Given the description of an element on the screen output the (x, y) to click on. 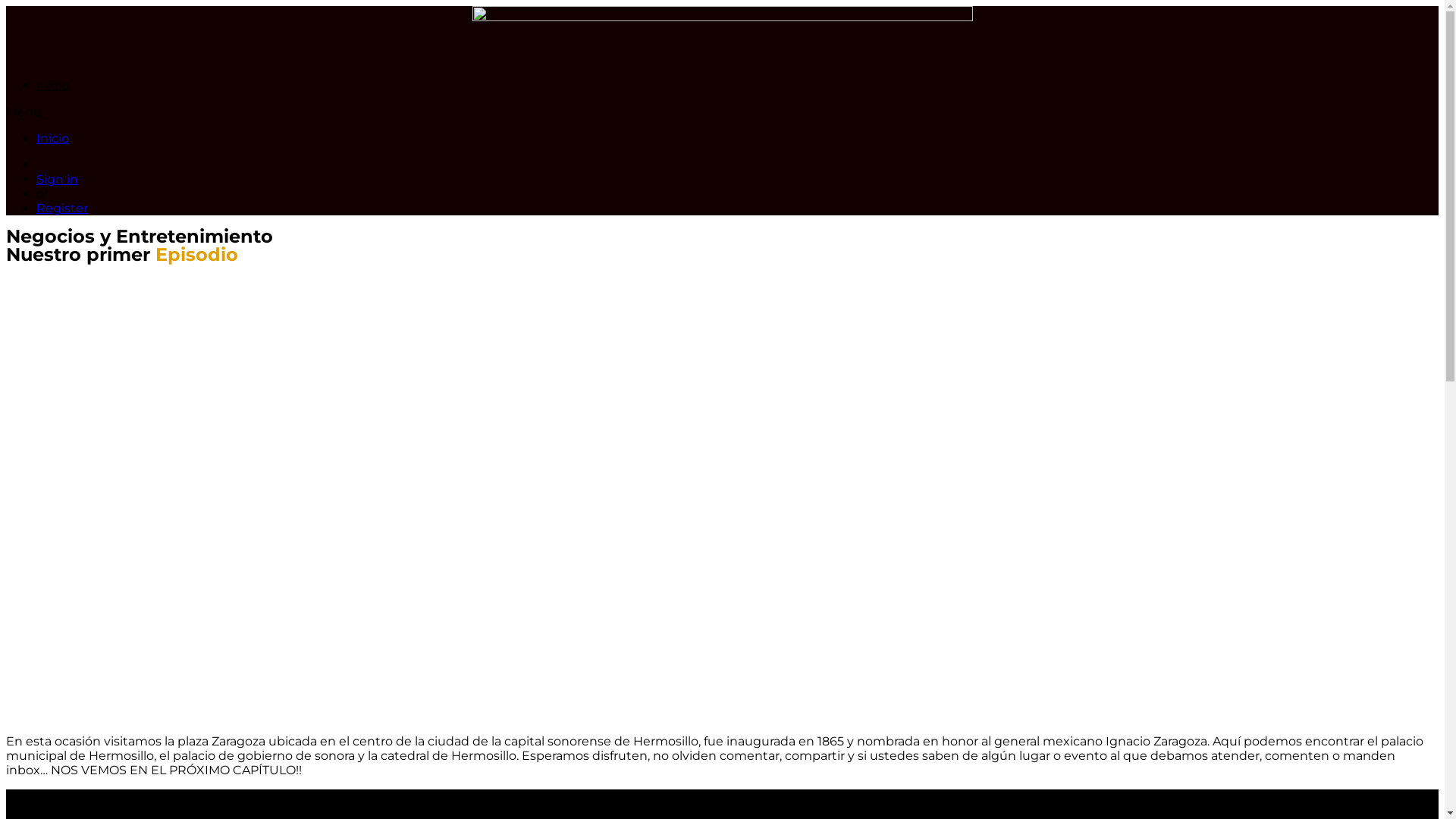
Register Element type: text (61, 207)
Inicio Element type: text (52, 138)
Sign in Element type: text (57, 179)
Inicio Element type: text (52, 85)
